Given the description of an element on the screen output the (x, y) to click on. 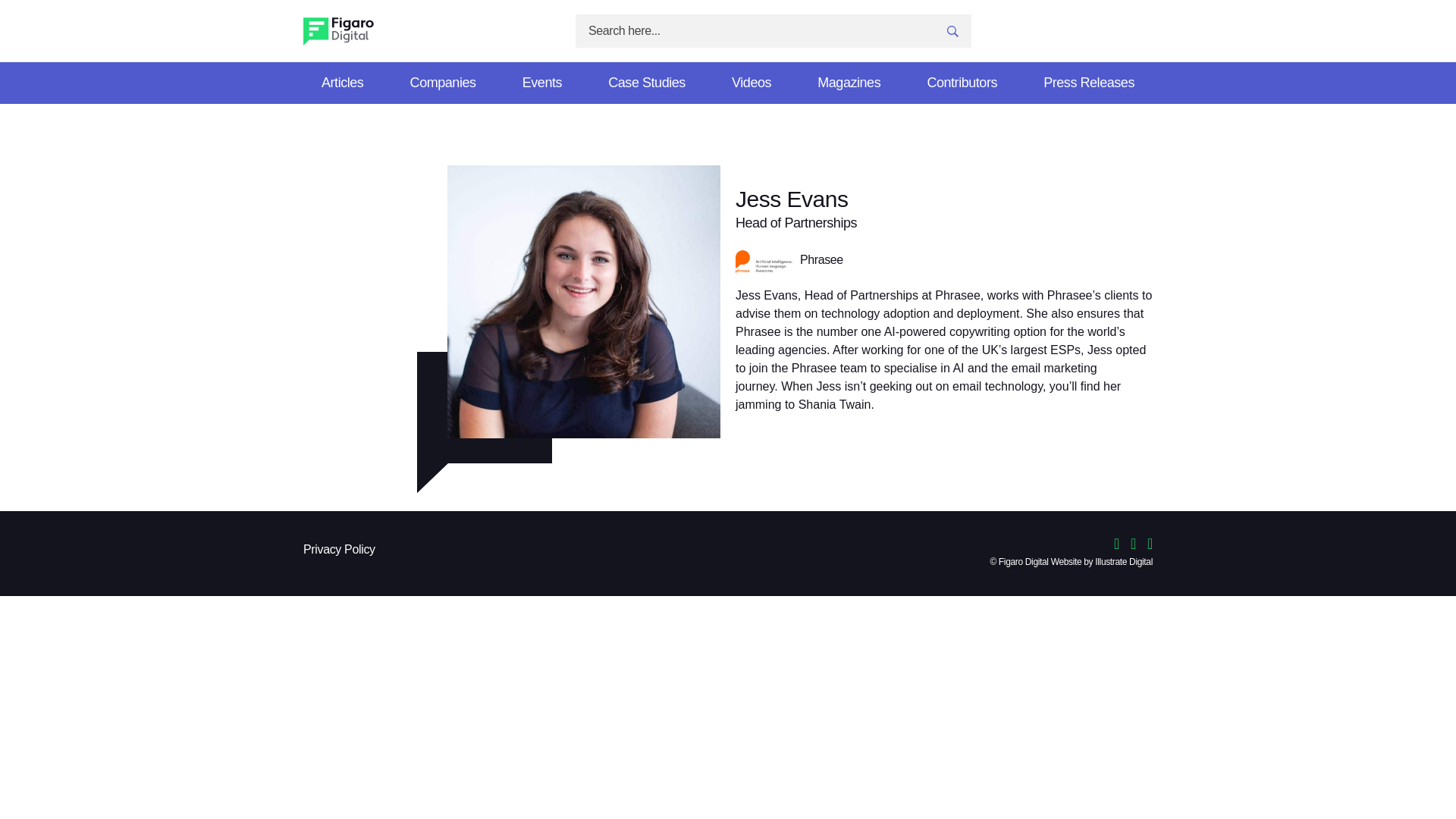
Articles (342, 82)
Phrasee (944, 261)
Twitter Icon (1122, 544)
Skip to content (260, 40)
Contributors (961, 82)
Privacy Policy (338, 549)
Contributors (961, 82)
Companies (442, 82)
Case Studies (646, 82)
Illustrate Digital (1123, 562)
Articles (342, 82)
Press Releases (1088, 82)
Submit search (952, 30)
Events (541, 82)
Linkedin Icon (1139, 544)
